Given the description of an element on the screen output the (x, y) to click on. 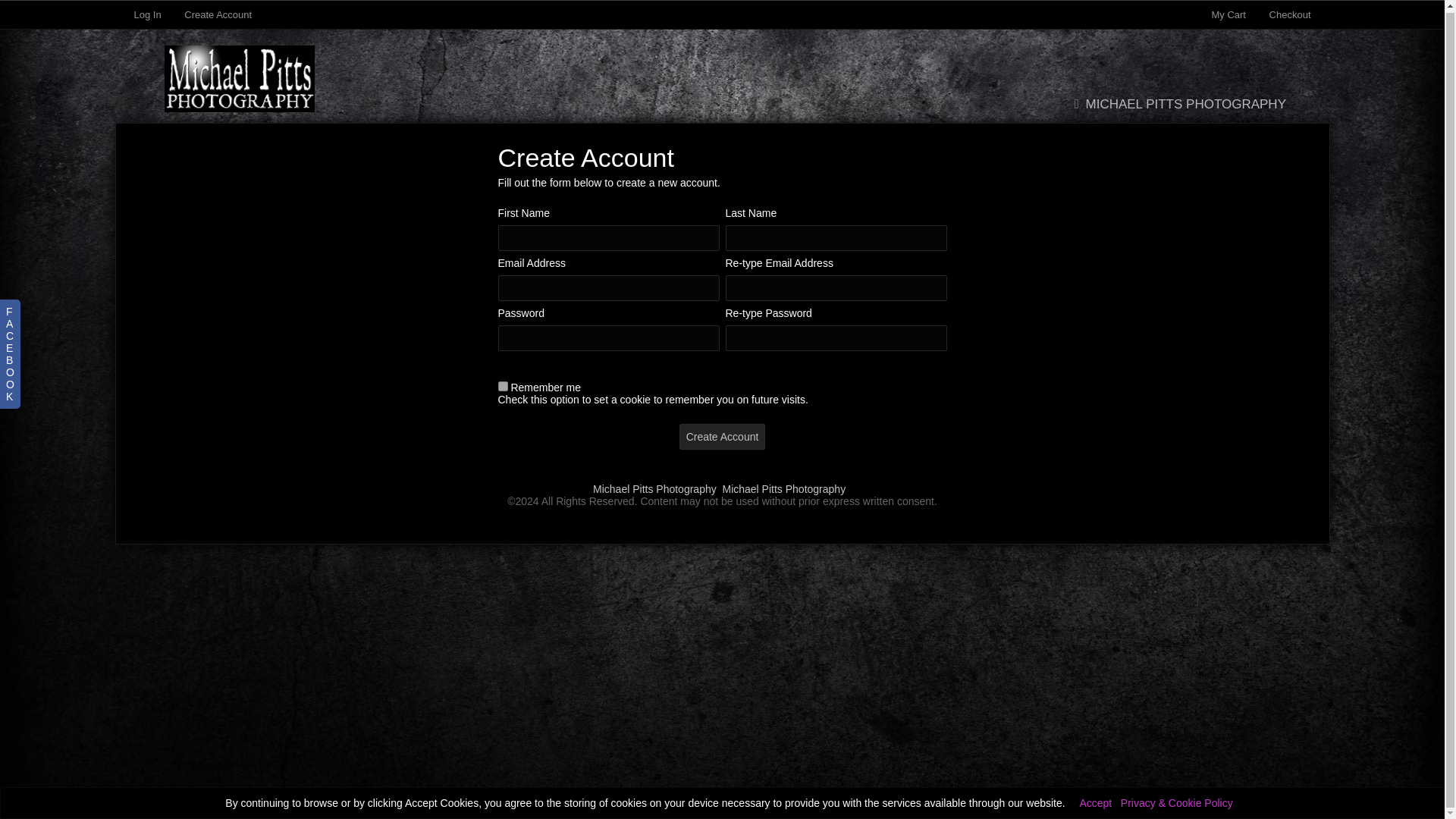
Create Account (722, 436)
Accept (1095, 801)
Create Account (217, 12)
MICHAEL PITTS PHOTOGRAPHY (1176, 104)
Checkout (1290, 12)
Create Account (722, 436)
Michael Pitts Photography (783, 489)
1 (501, 386)
Michael Pitts Photography (654, 489)
My Cart (1229, 12)
Log In (146, 12)
